Given the description of an element on the screen output the (x, y) to click on. 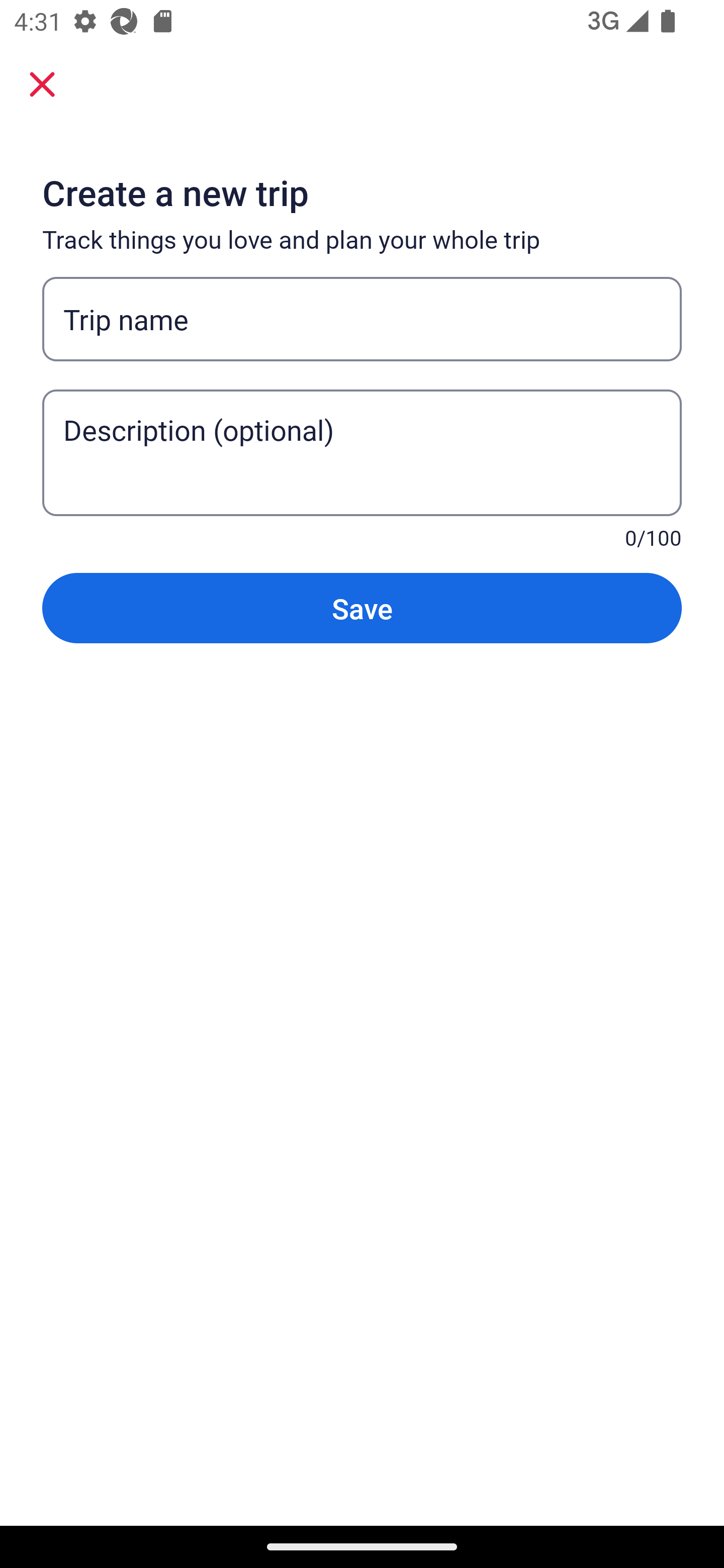
Close (41, 83)
Trip name (361, 318)
Save Button Save (361, 607)
